Given the description of an element on the screen output the (x, y) to click on. 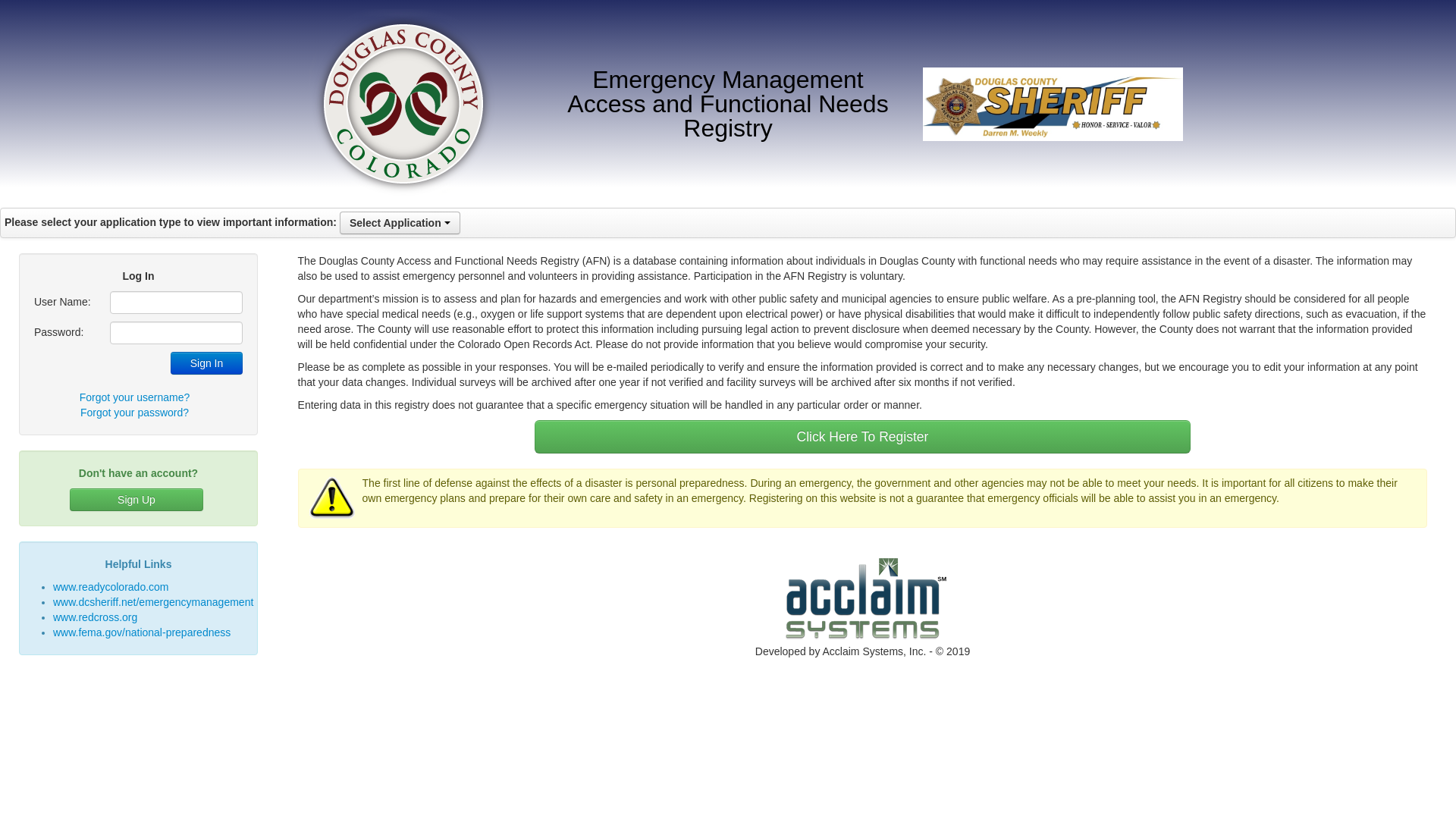
www.redcross.org (94, 616)
Sign Up (136, 499)
Passwords are case-sensitive (176, 332)
Click Here To Register (862, 436)
Sign In (206, 363)
Sign In (206, 363)
Select Application (399, 222)
Forgot your username? (135, 397)
Forgot your password? (134, 412)
www.readycolorado.com (110, 586)
